Given the description of an element on the screen output the (x, y) to click on. 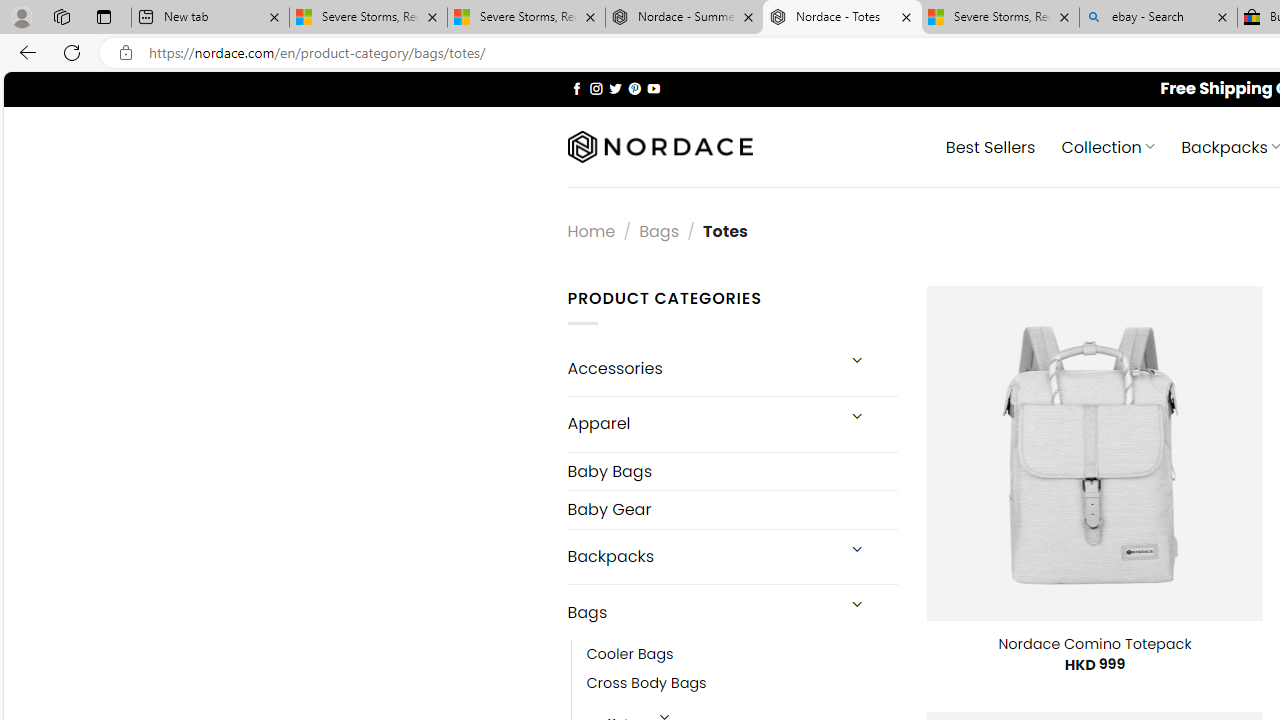
Cooler Bags (630, 655)
Follow on Twitter (615, 88)
Follow on YouTube (653, 88)
Baby Gear (732, 509)
Bags (700, 613)
Accessories (700, 368)
 Best Sellers (989, 146)
Baby Bags (732, 470)
